Given the description of an element on the screen output the (x, y) to click on. 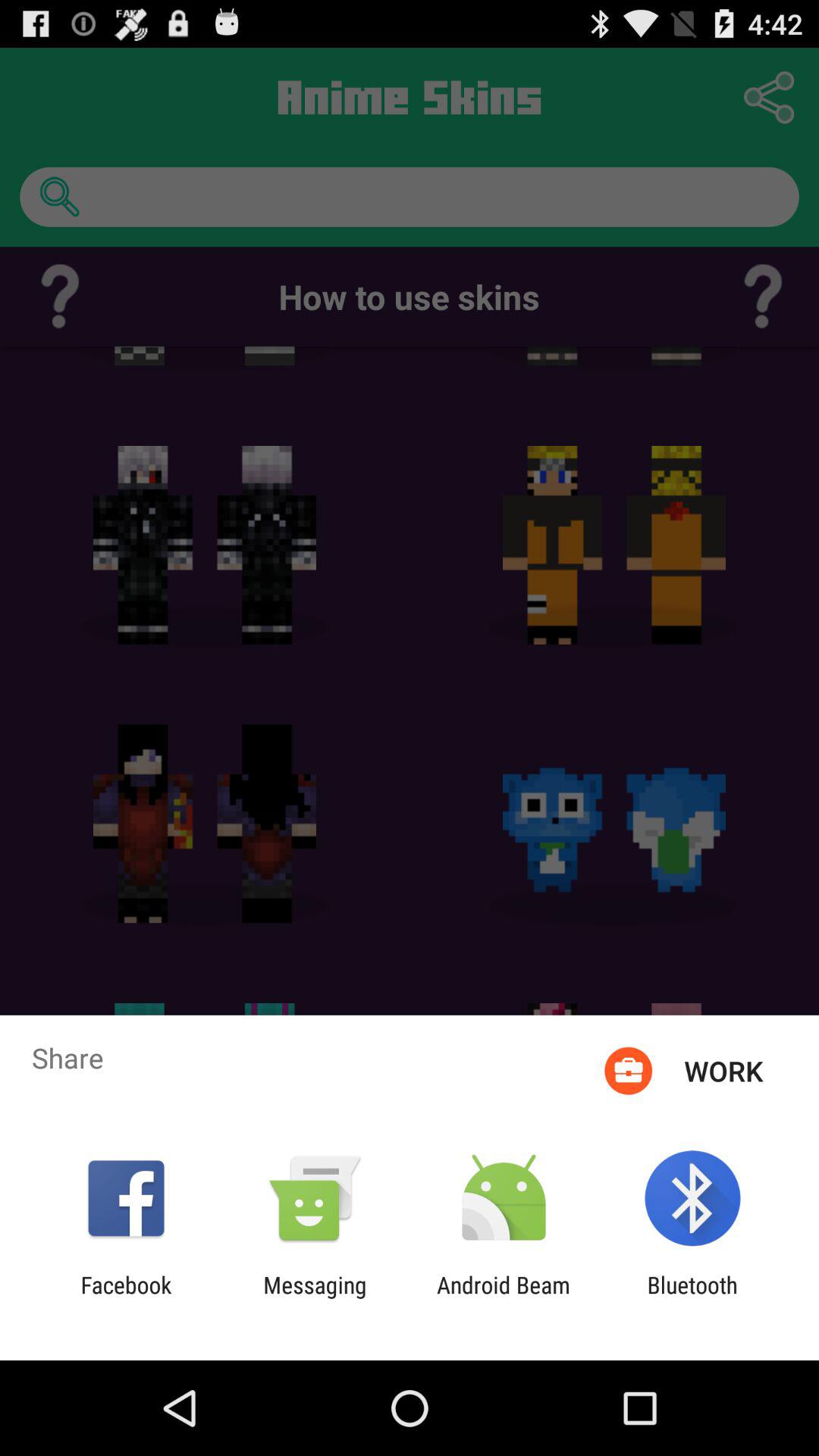
flip until the bluetooth app (692, 1298)
